Given the description of an element on the screen output the (x, y) to click on. 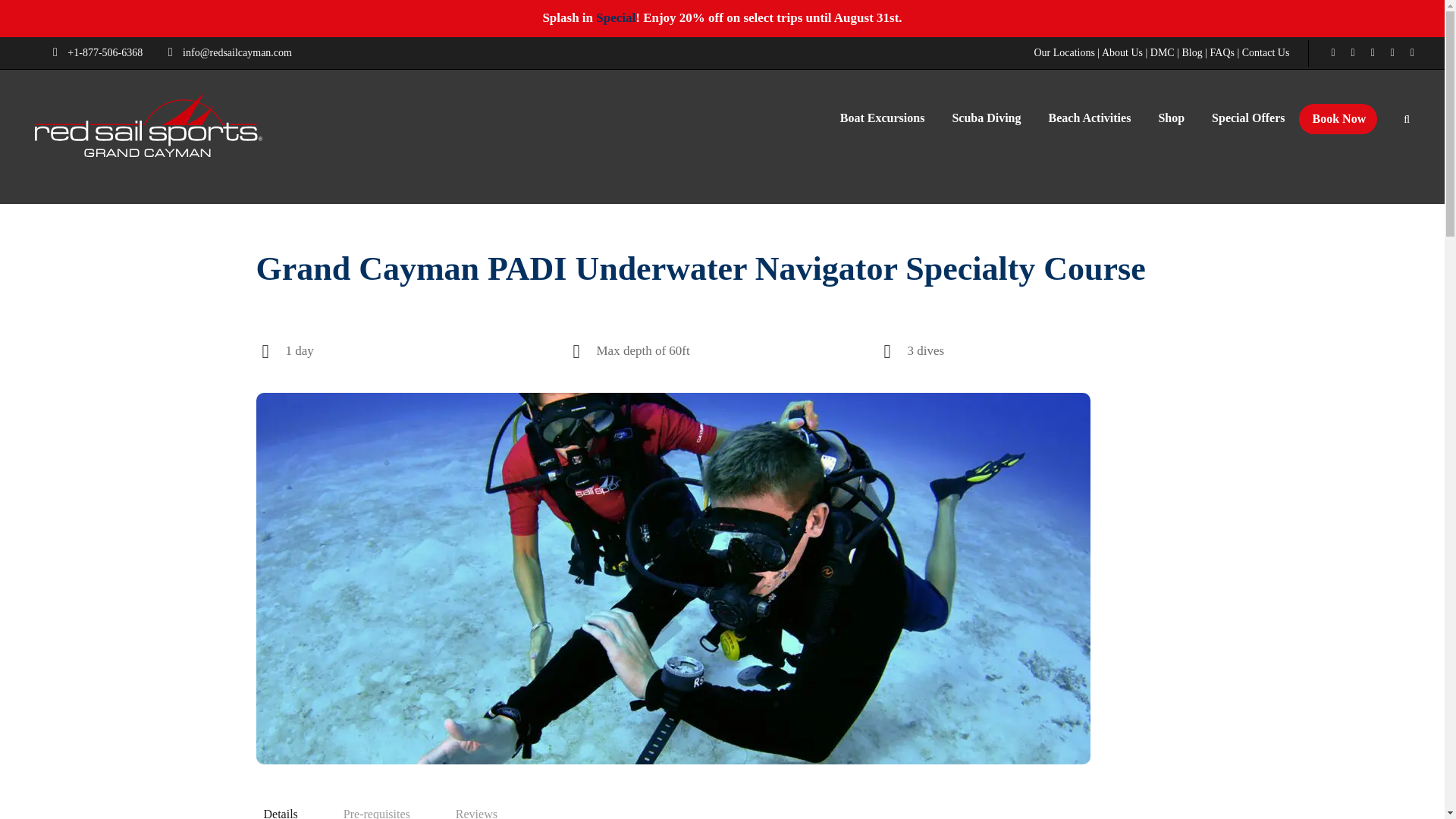
Blog (1191, 52)
About Us (1122, 52)
LOGO WHITE-RED (148, 124)
FAQs (1221, 52)
DMC (1162, 52)
Our Locations (1063, 52)
Contact Us (1265, 52)
Special (614, 17)
